Given the description of an element on the screen output the (x, y) to click on. 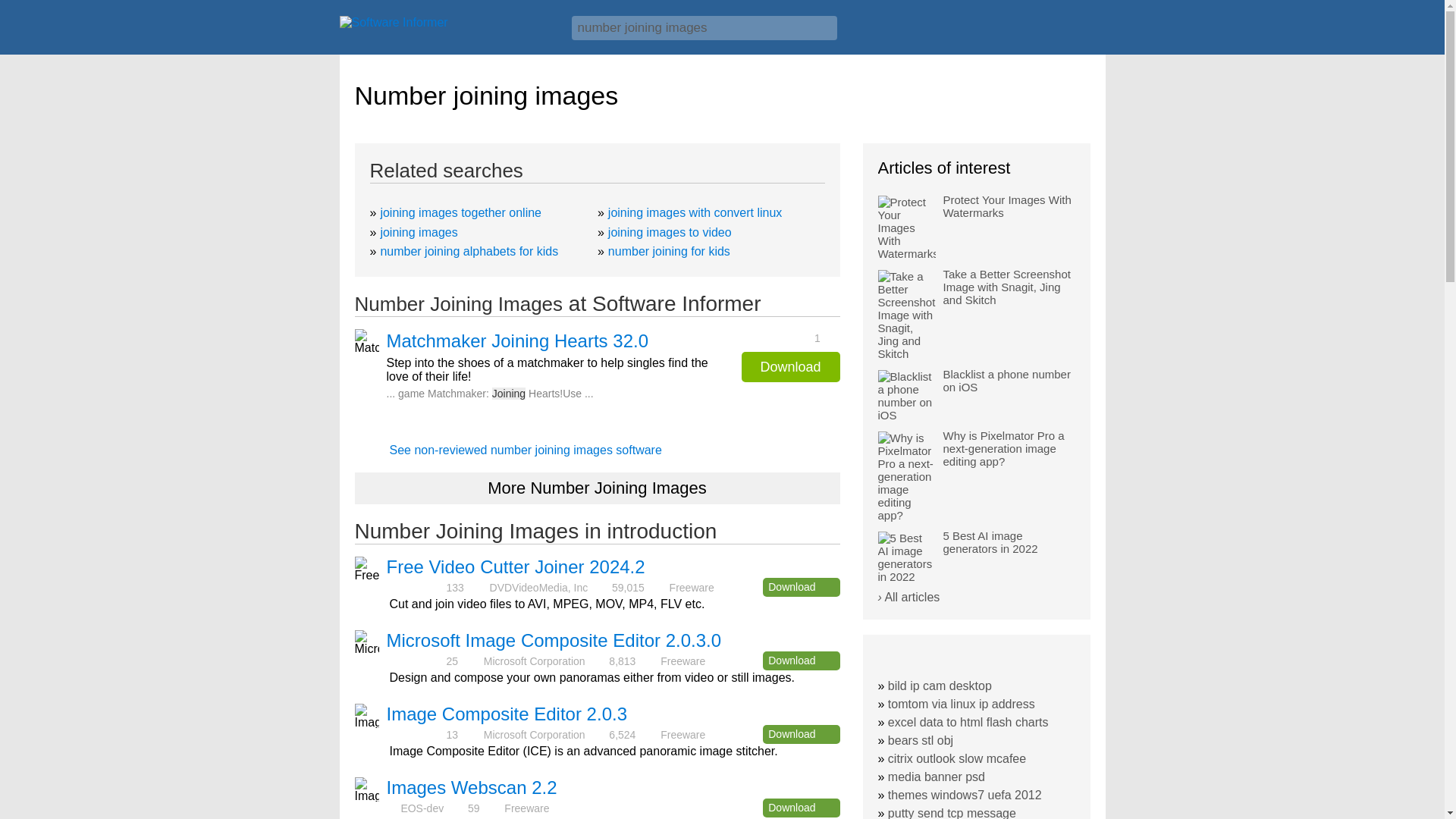
Free Video Cutter Joiner 2024.2 (516, 566)
Matchmaker Joining Hearts 32.0 (518, 340)
number joining for kids (669, 250)
Download (801, 733)
4.2 (415, 660)
4.1 (415, 734)
1 votes (785, 336)
Microsoft Image Composite Editor 2.0.3.0 (554, 639)
